Given the description of an element on the screen output the (x, y) to click on. 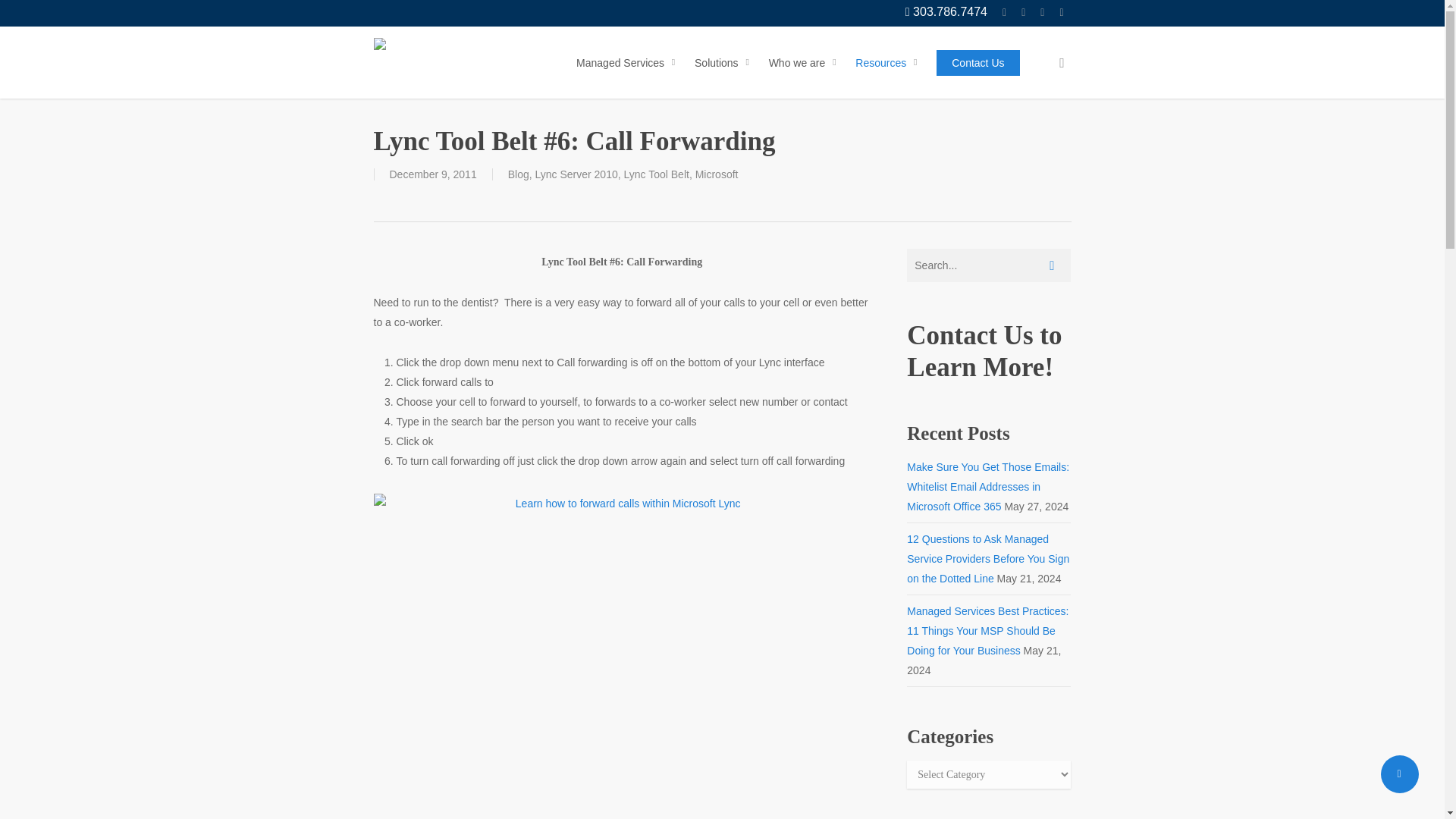
Search for: (988, 264)
Solutions (724, 61)
303.786.7474 (946, 12)
Managed Services (628, 61)
Who we are (804, 61)
